Given the description of an element on the screen output the (x, y) to click on. 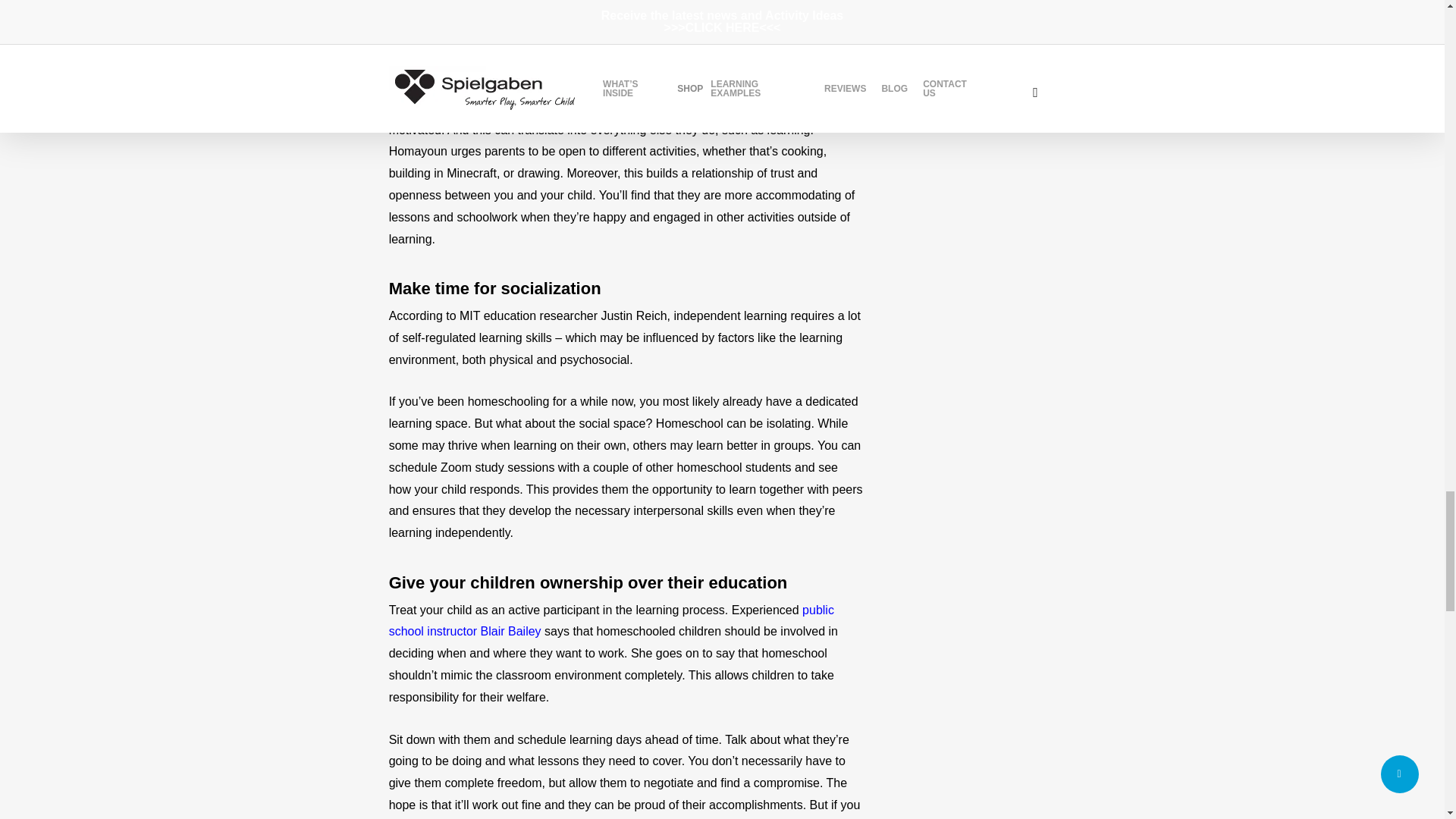
Bay Area educational coach Ana Homayoun (592, 32)
public school instructor Blair Bailey (611, 620)
